Given the description of an element on the screen output the (x, y) to click on. 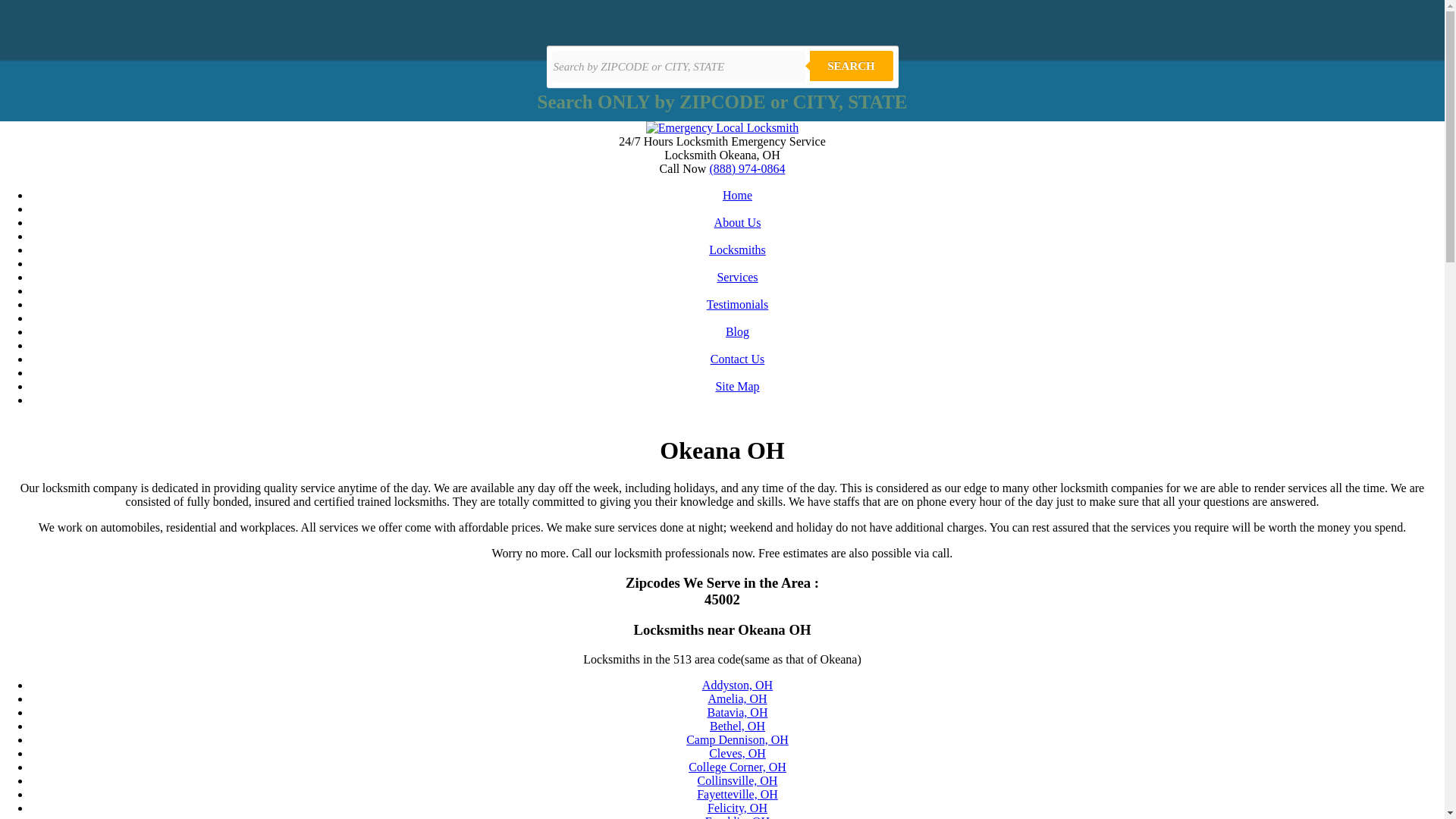
Contact Us (737, 358)
Permanent Link to Cleves OH (737, 753)
Site Map (736, 386)
Services (736, 277)
Permanent Link to Batavia OH (736, 712)
Permanent Link to Camp Dennison OH (737, 739)
Permanent Link to Fayetteville OH (737, 793)
Locksmiths (737, 249)
Fayetteville, OH (737, 793)
Permanent Link to College Corner OH (737, 766)
Permanent Link to Collinsville OH (737, 780)
Franklin, OH (737, 816)
SEARCH (851, 65)
Permanent Link to Franklin OH (737, 816)
Permanent Link to Addyston OH (737, 684)
